Given the description of an element on the screen output the (x, y) to click on. 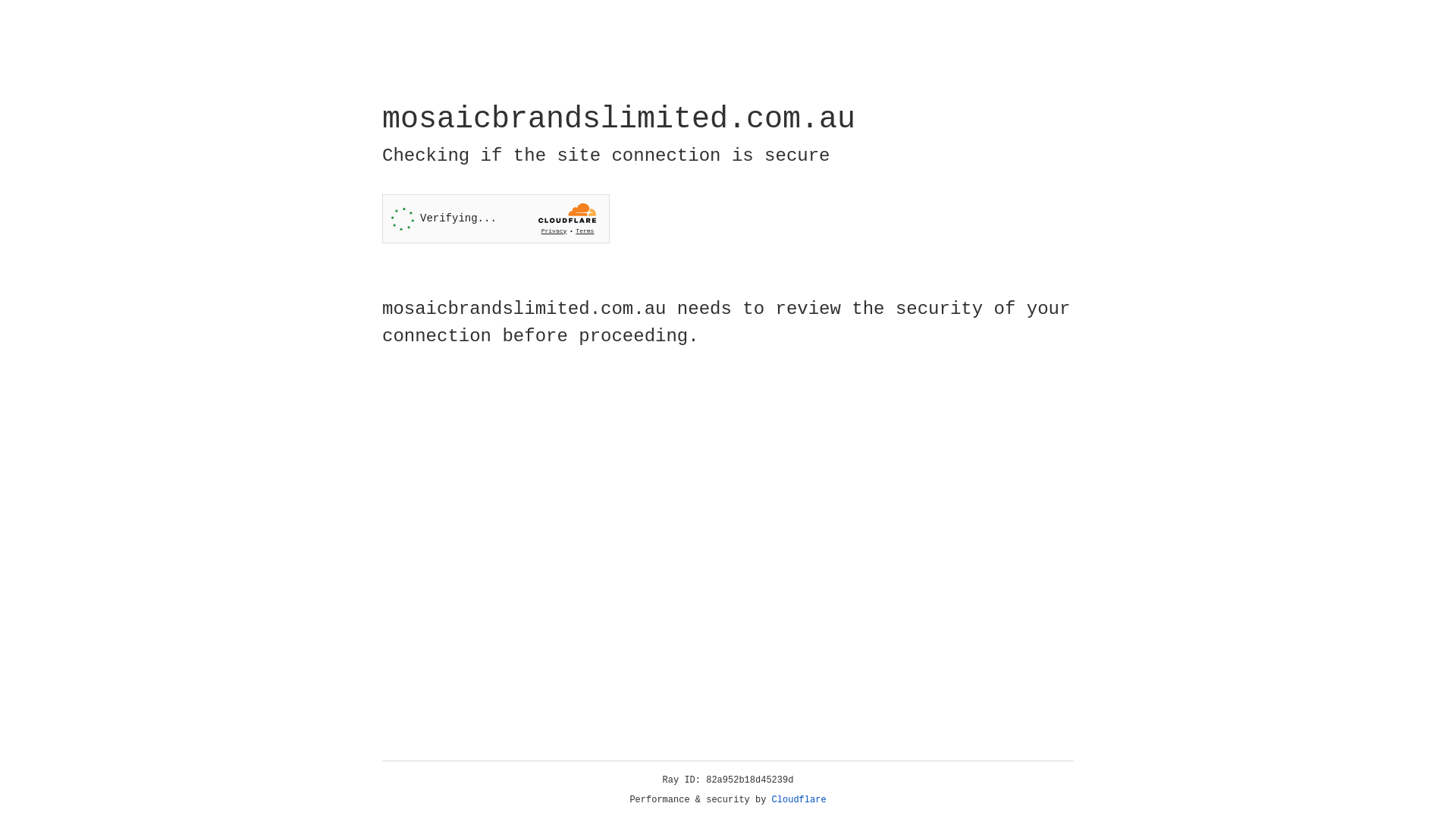
Widget containing a Cloudflare security challenge Element type: hover (495, 218)
Cloudflare Element type: text (798, 799)
